Given the description of an element on the screen output the (x, y) to click on. 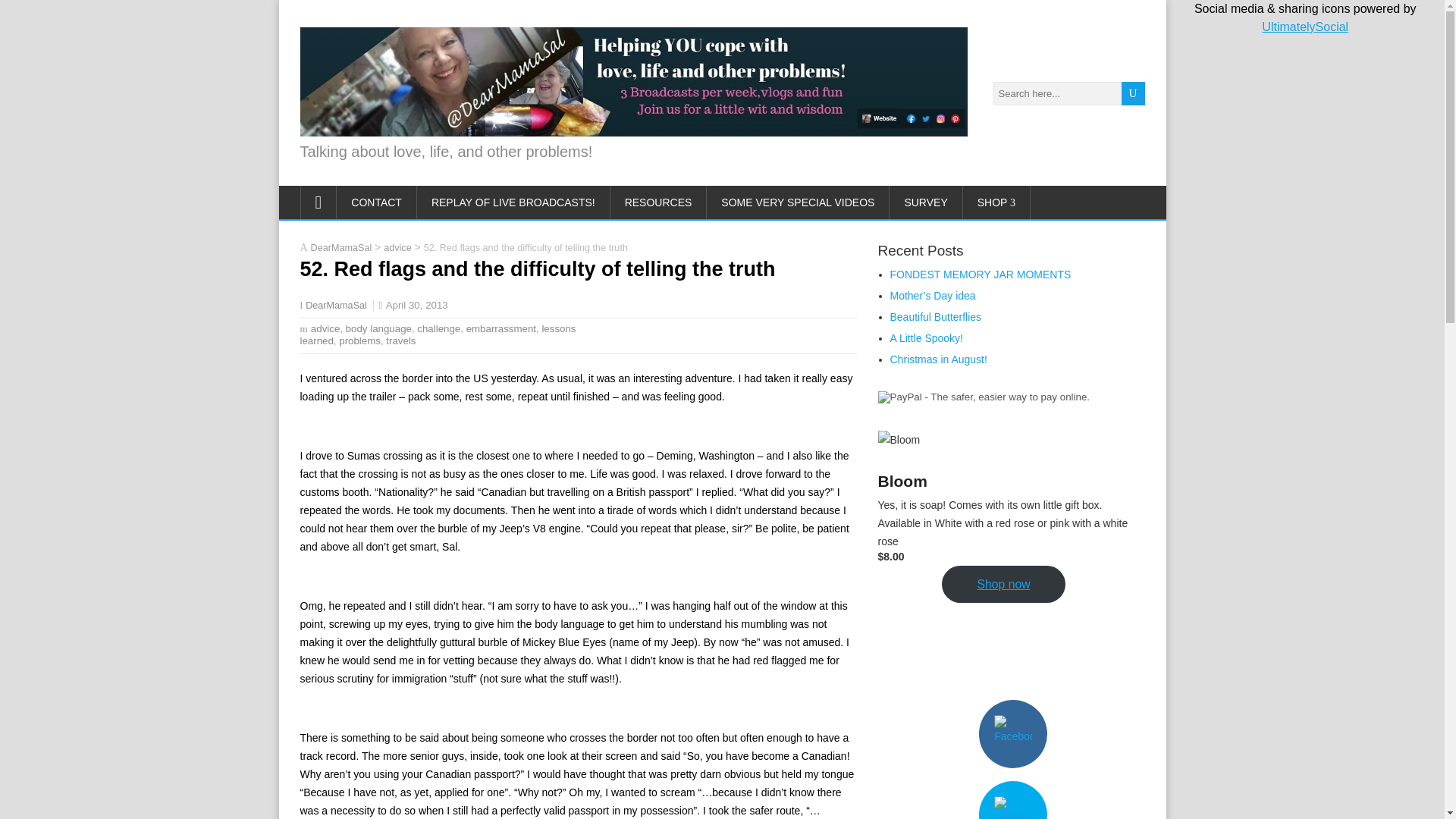
DearMamaSal (341, 247)
Posts by DearMamaSal (335, 305)
U (1132, 93)
REPLAY OF LIVE BROADCASTS! (513, 202)
Go to the advice Category archives. (398, 247)
SURVEY (925, 202)
travels (399, 340)
U (1132, 93)
lessons learned (437, 334)
challenge (438, 328)
